Given the description of an element on the screen output the (x, y) to click on. 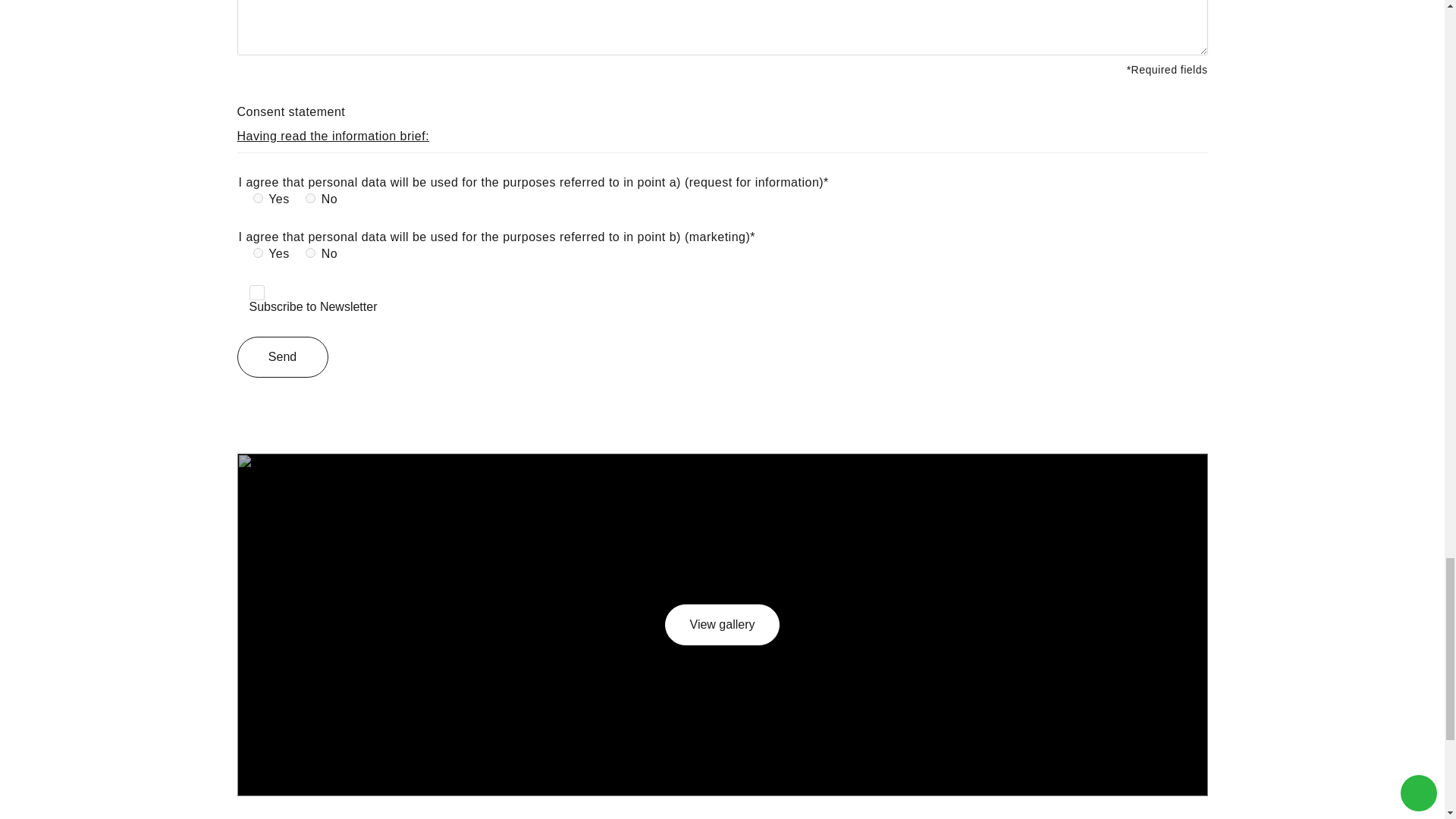
Send (281, 356)
Send (281, 356)
1 (255, 292)
Yes (258, 198)
No (310, 198)
Yes (258, 252)
No (310, 252)
